Given the description of an element on the screen output the (x, y) to click on. 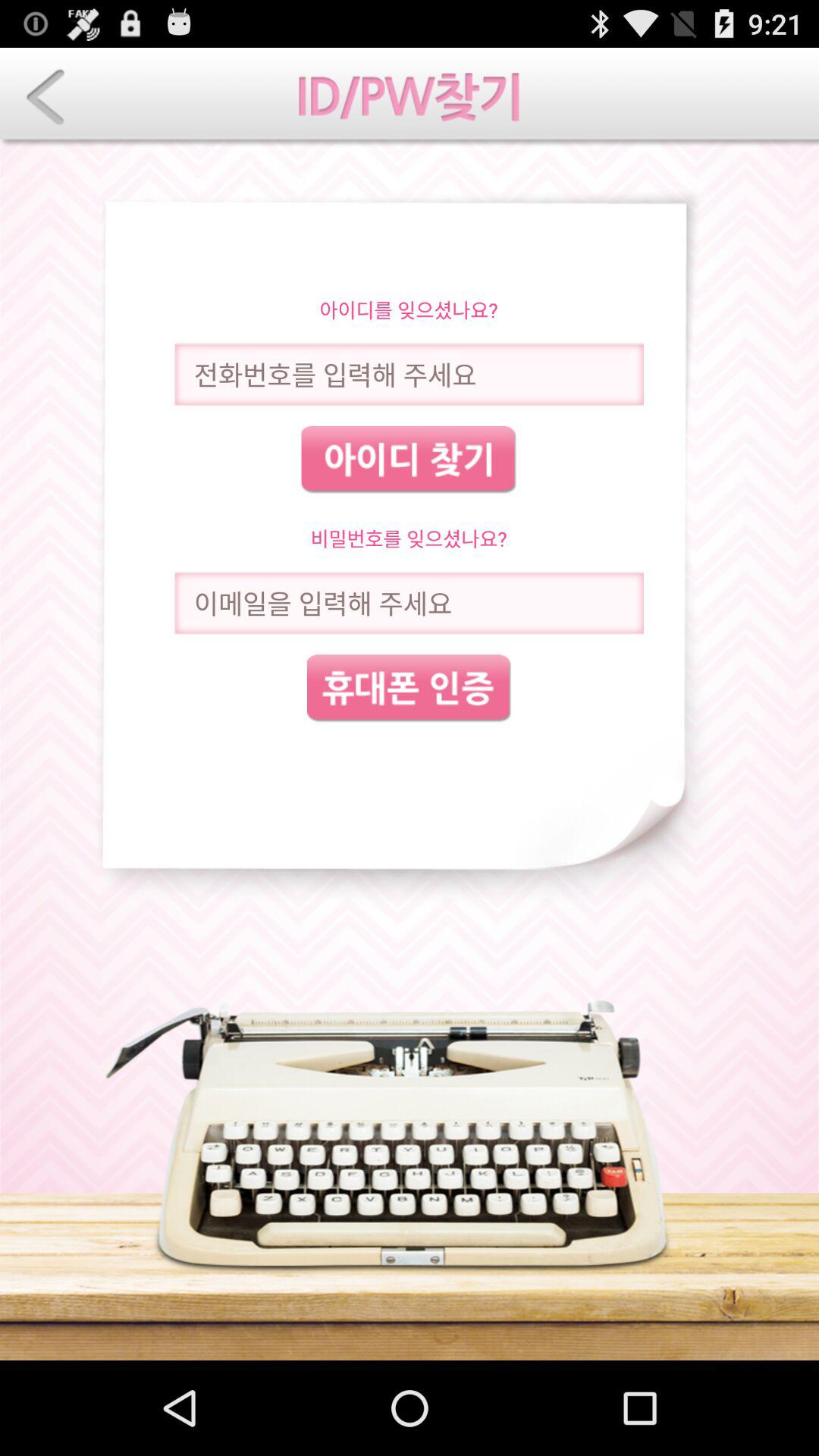
go back (45, 96)
